Given the description of an element on the screen output the (x, y) to click on. 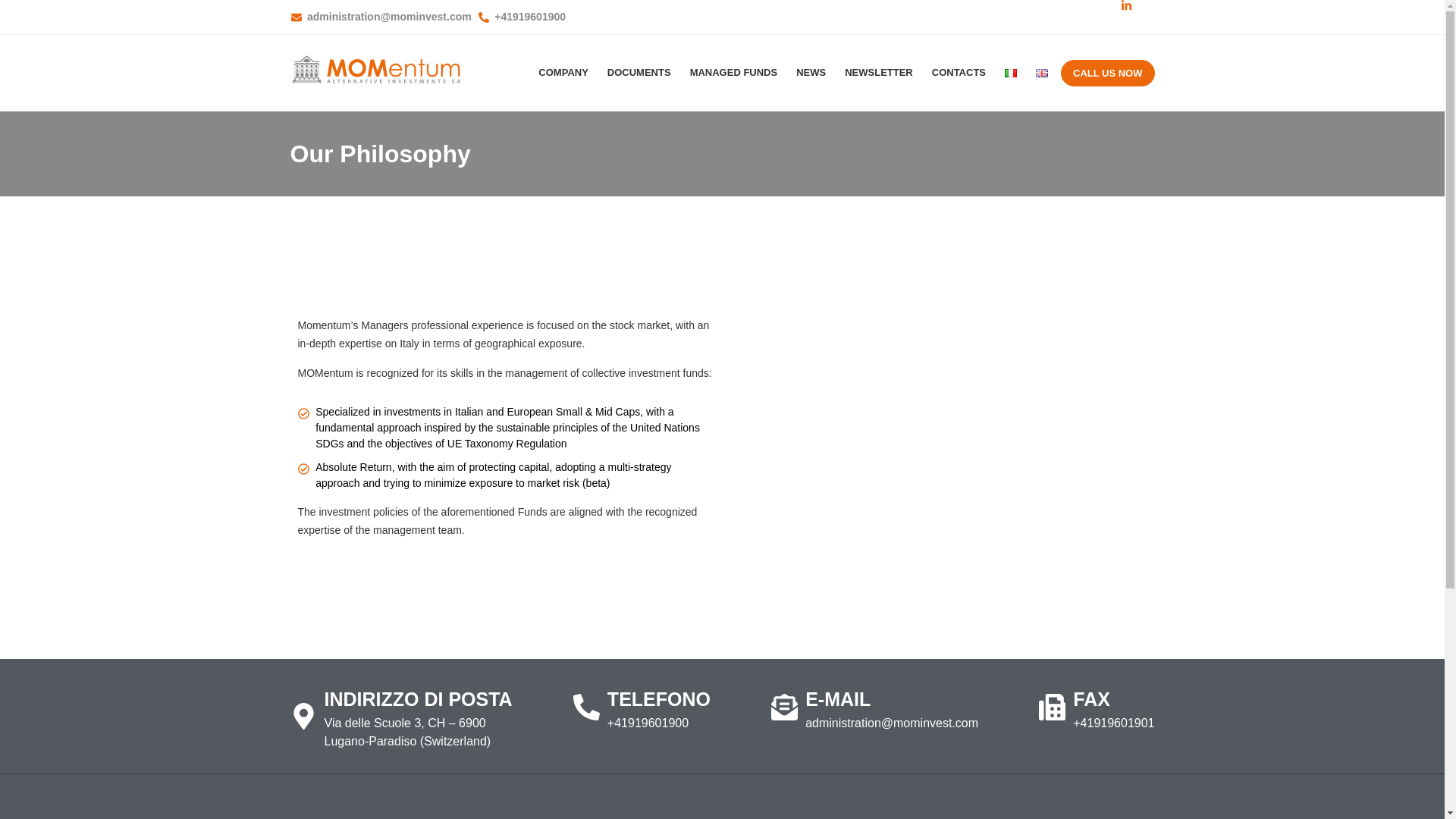
E-MAIL (837, 699)
COMPANY (563, 72)
NEWS (810, 72)
NEWSLETTER (878, 72)
TELEFONO (658, 699)
MANAGED FUNDS (733, 72)
FAX (1091, 699)
INDIRIZZO DI POSTA (418, 699)
CALL US NOW (1107, 71)
CONTACTS (958, 72)
DOCUMENTS (639, 72)
